Given the description of an element on the screen output the (x, y) to click on. 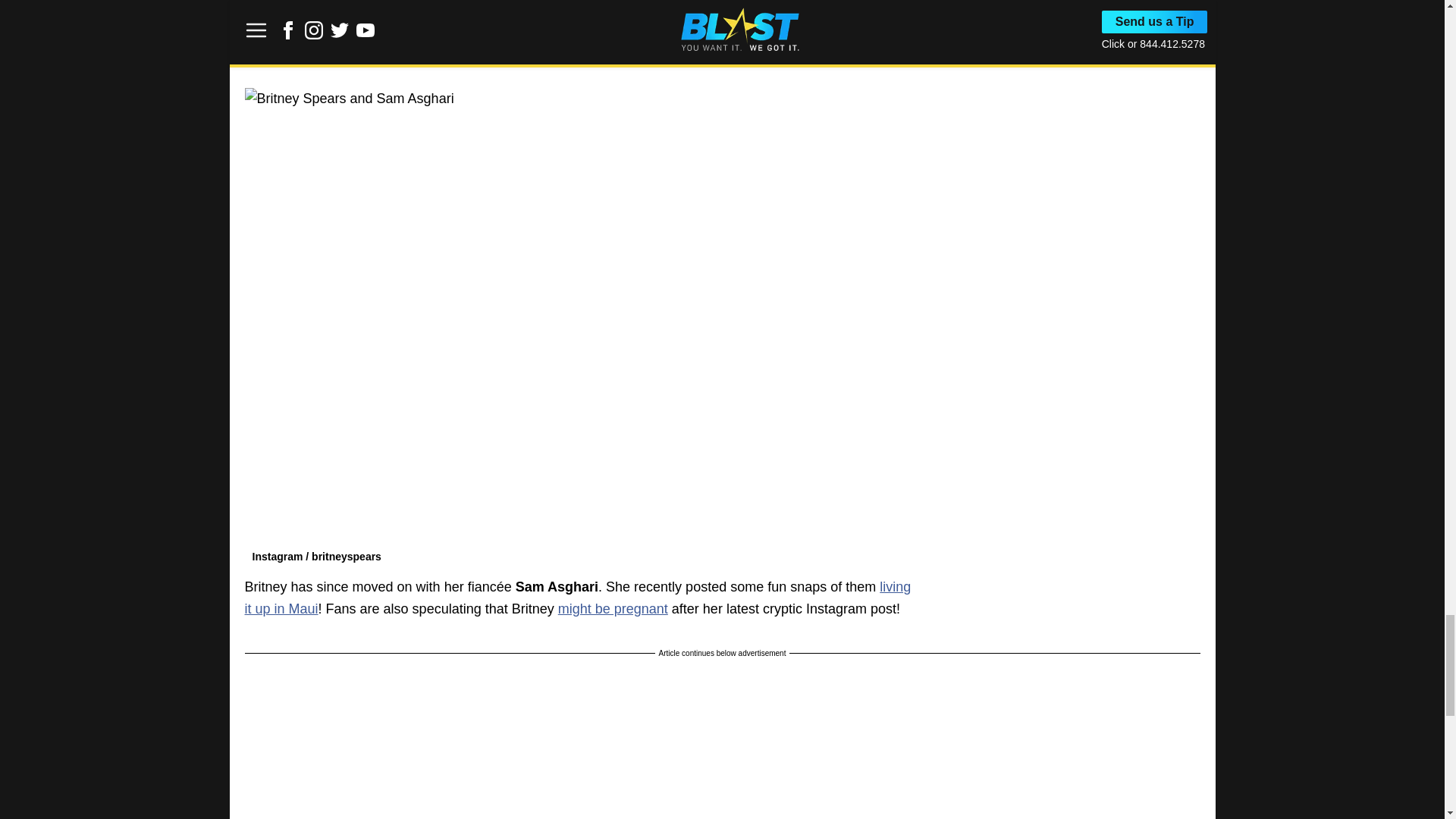
might be pregnant (612, 608)
living it up in Maui (577, 597)
